Given the description of an element on the screen output the (x, y) to click on. 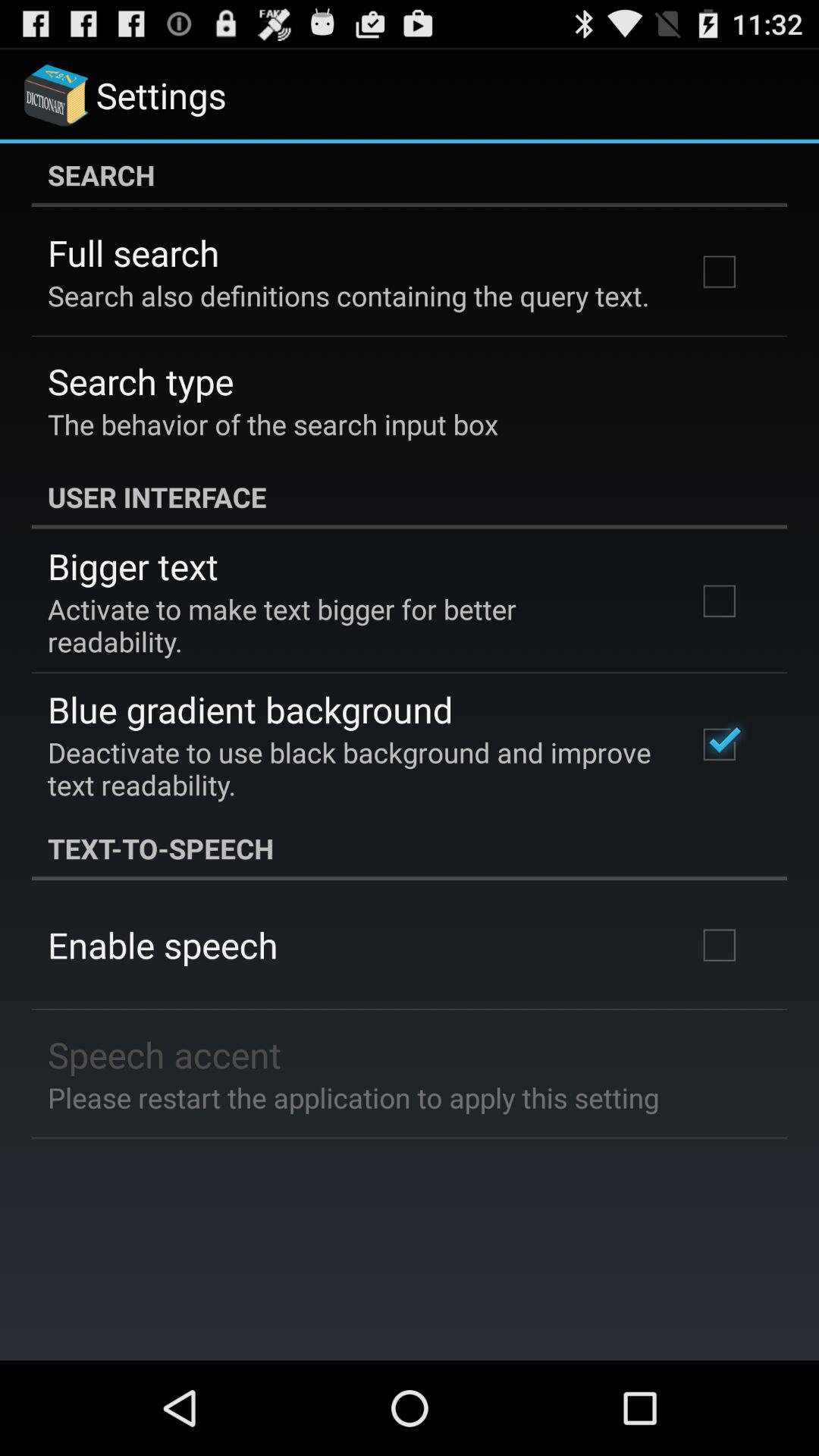
choose the item below the full search icon (348, 295)
